Given the description of an element on the screen output the (x, y) to click on. 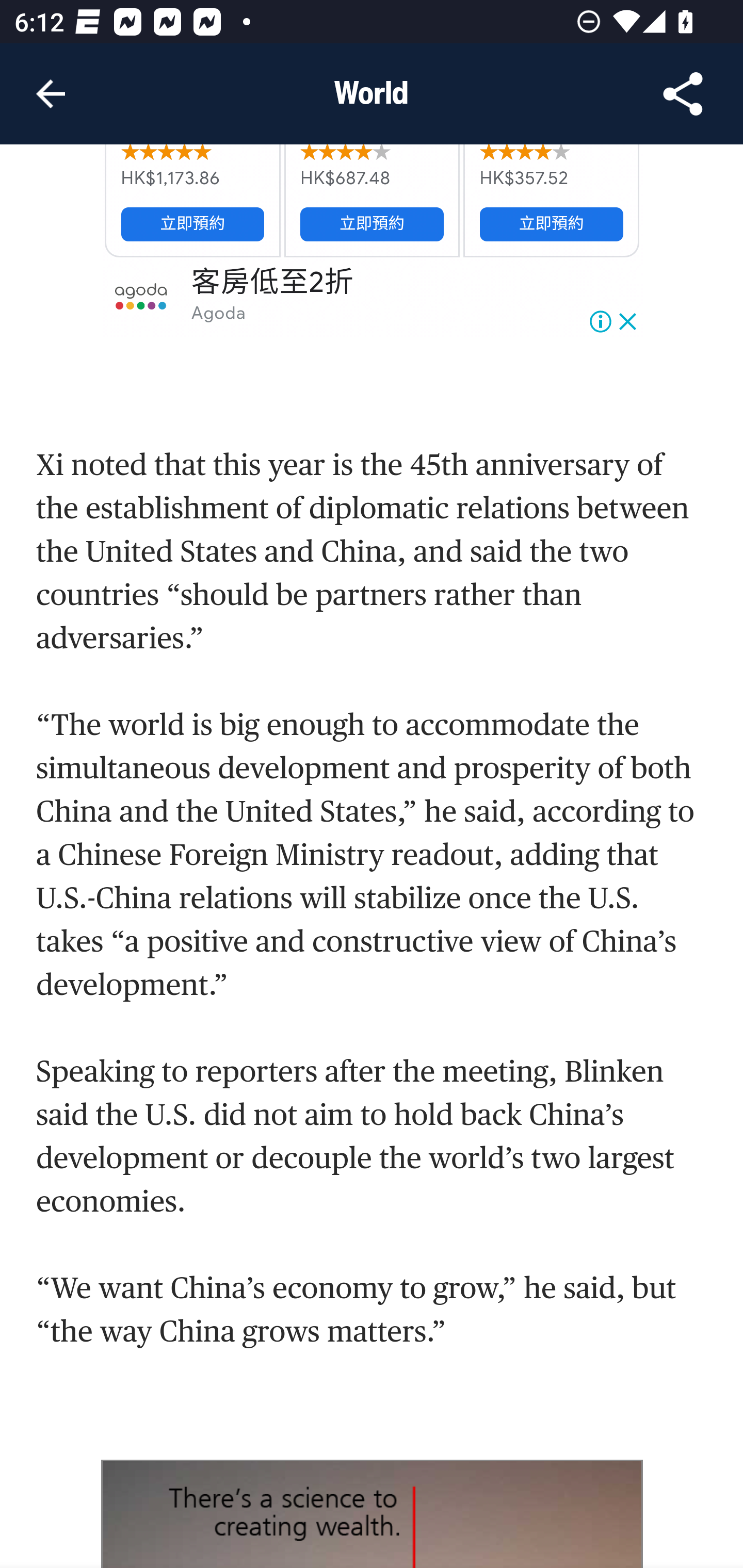
Navigate up (50, 93)
Share Article, button (683, 94)
巴黎戴高樂千禧 酒店 HK$687.48 立即預約 HK$687.48 立即預約 (371, 199)
Bed Space Hostel… HK$357.52 立即預約 HK$357.52 立即預約 (550, 199)
客房低至2折 Agoda 客房低至2折 Agoda (372, 296)
